Given the description of an element on the screen output the (x, y) to click on. 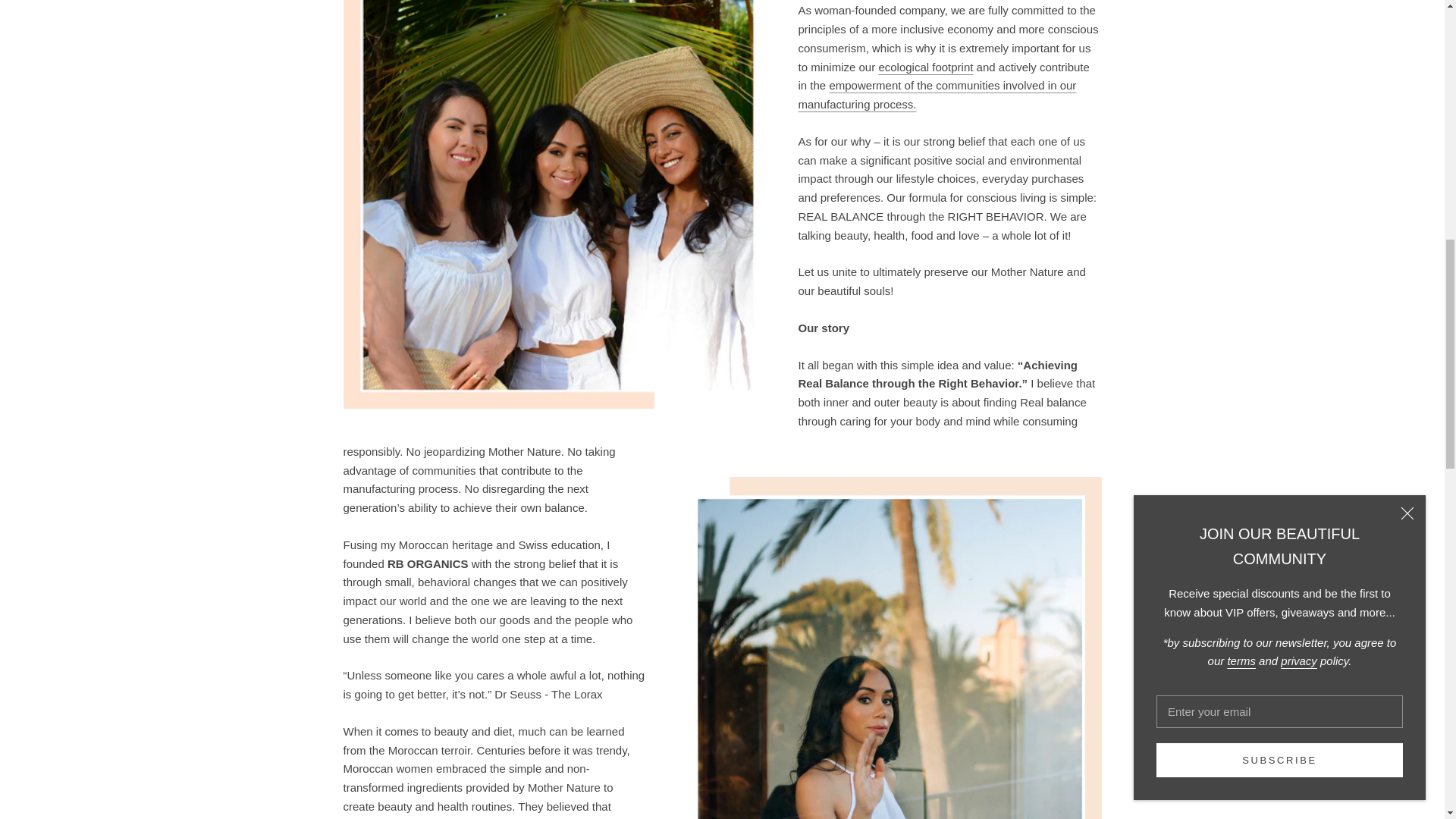
ecological footprint (924, 66)
